Given the description of an element on the screen output the (x, y) to click on. 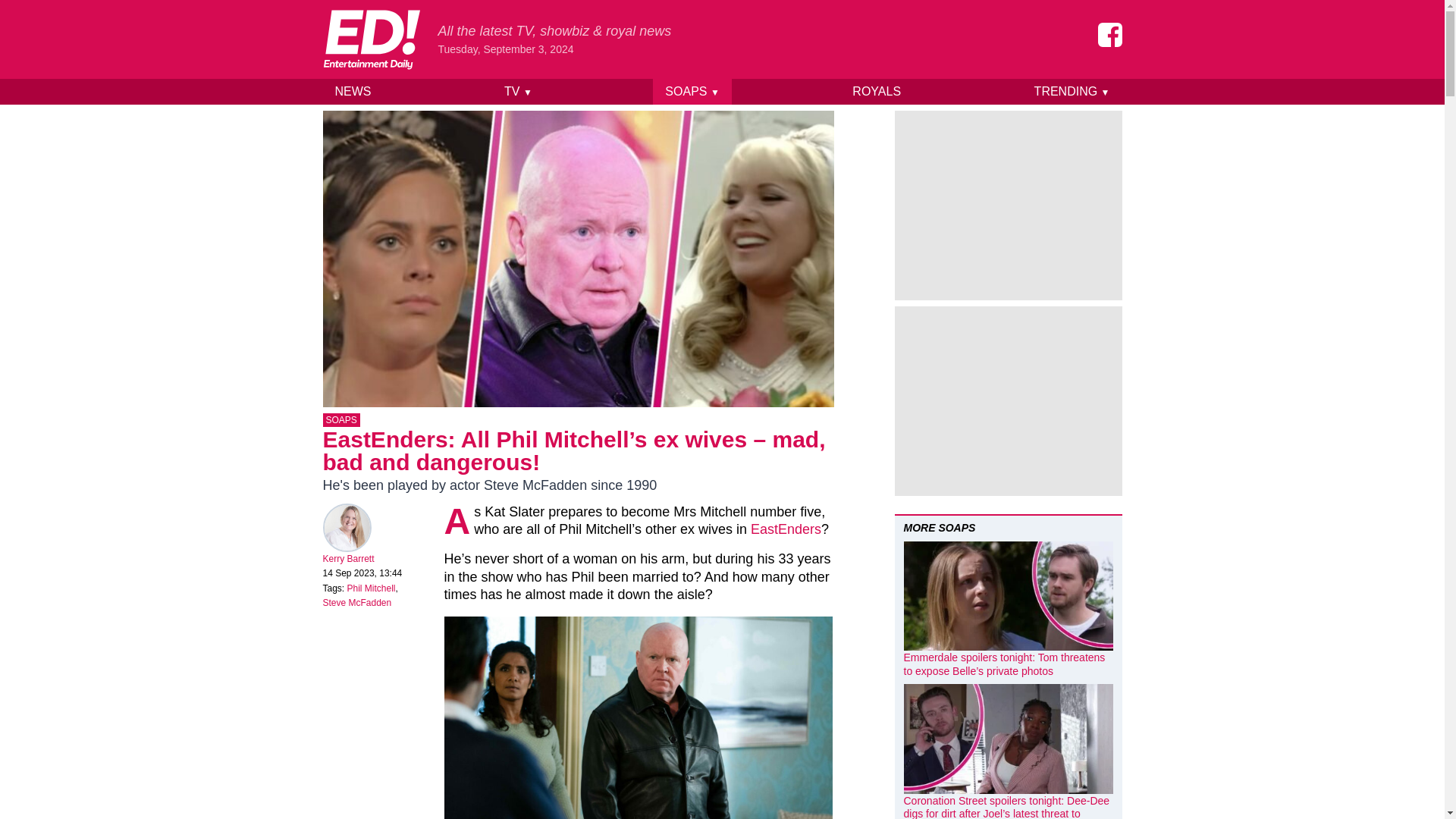
SOAPS (341, 419)
NEWS (353, 91)
ROYALS (876, 91)
Kerry Barrett (348, 558)
Phil Mitchell (371, 588)
EastEnders (786, 529)
Steve McFadden (357, 602)
